Given the description of an element on the screen output the (x, y) to click on. 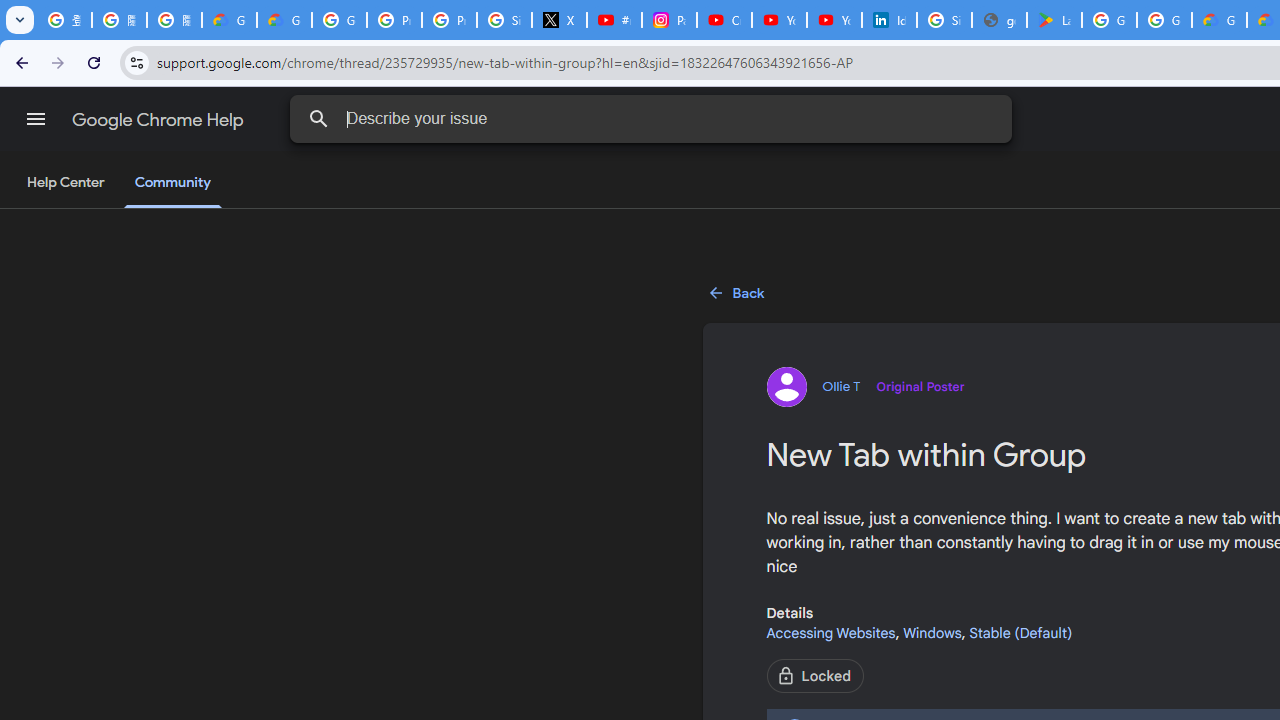
Google Cloud Privacy Notice (284, 20)
Privacy Help Center - Policies Help (394, 20)
Google Cloud Privacy Notice (229, 20)
Search Help Center (318, 118)
Government | Google Cloud (1218, 20)
YouTube Culture & Trends - YouTube Top 10, 2021 (833, 20)
